Given the description of an element on the screen output the (x, y) to click on. 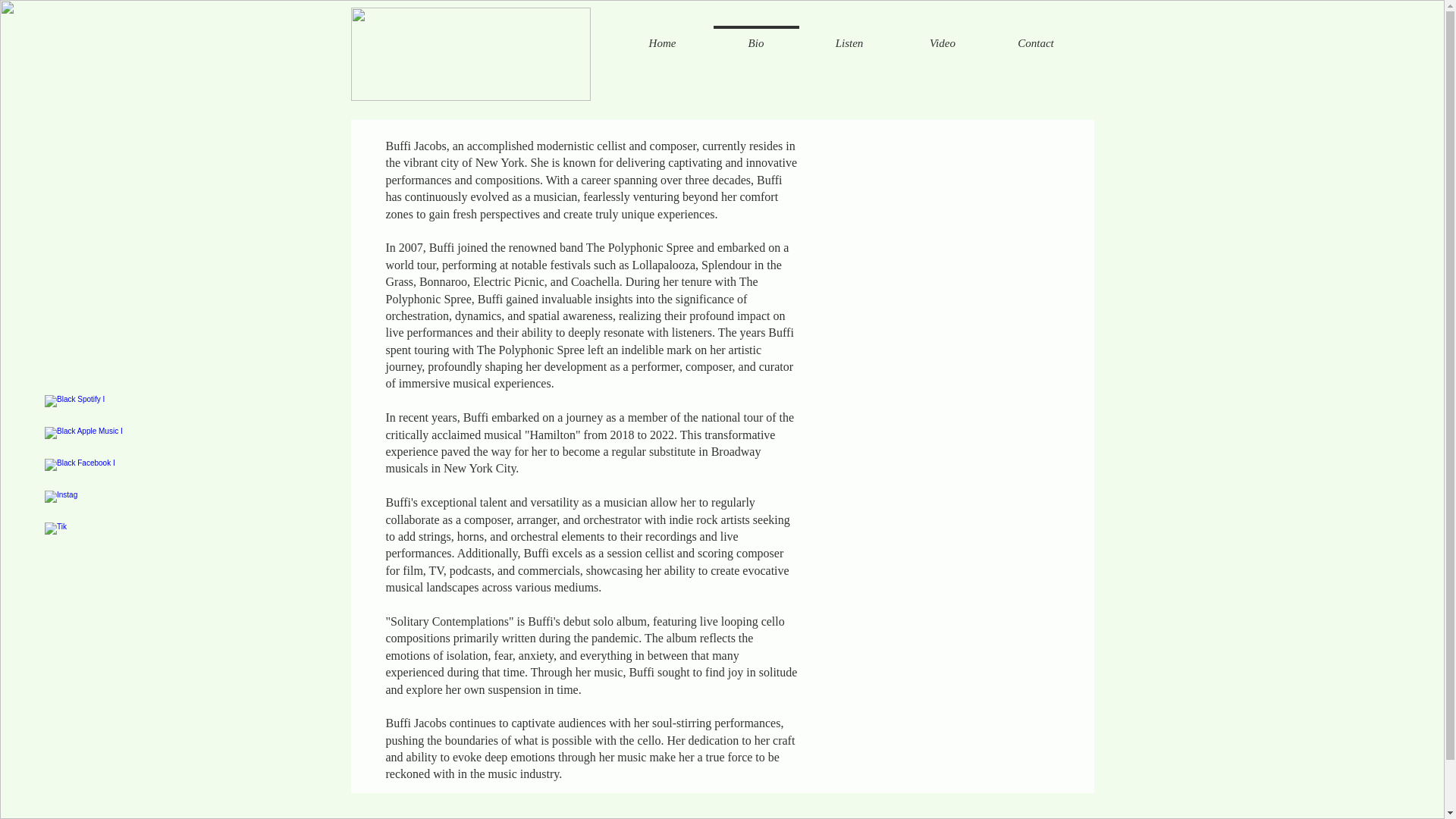
Buffi-Logo-horizontal.png (469, 53)
Bio (756, 36)
Listen (848, 36)
Contact (1034, 36)
Video (943, 36)
Home (662, 36)
